Given the description of an element on the screen output the (x, y) to click on. 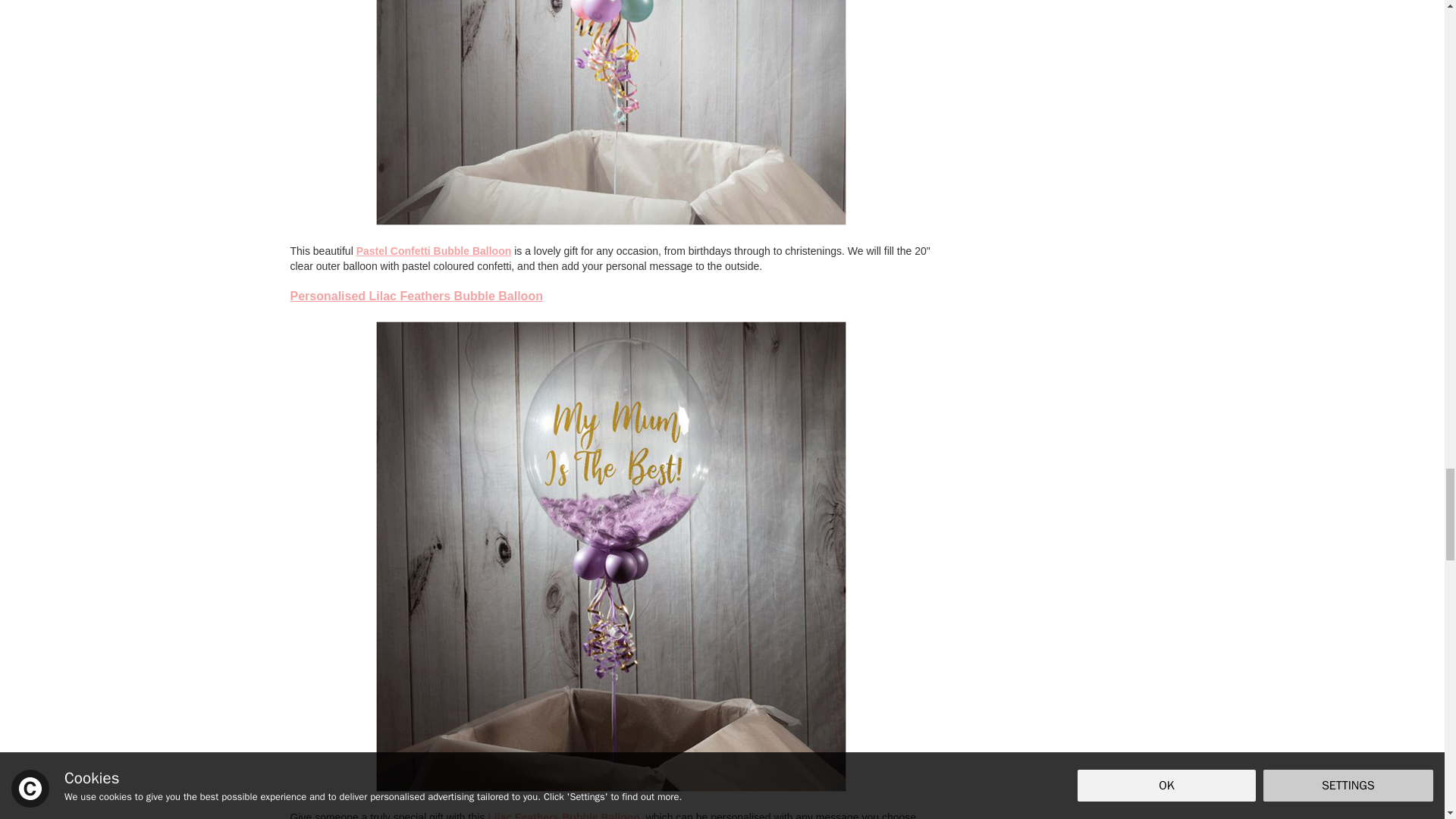
Pastel Confetti Bubble Balloon (434, 250)
Personalised Lilac Feathers Bubble Balloon (415, 295)
